Given the description of an element on the screen output the (x, y) to click on. 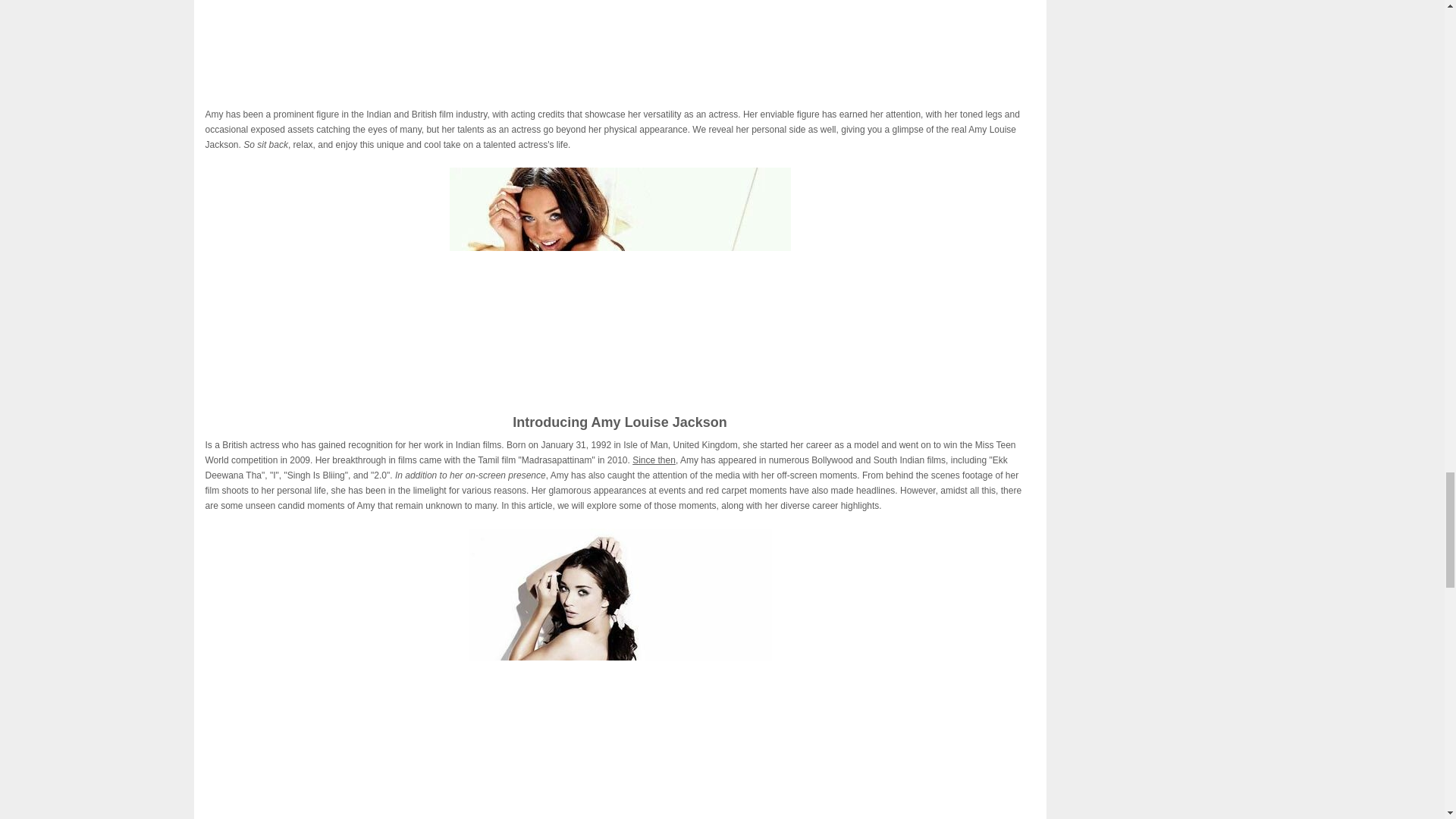
Amy Louise Jackson stockings (619, 43)
Amy Louise Jackson no underwear (619, 673)
Amy Louise Jackson legs (619, 280)
